Given the description of an element on the screen output the (x, y) to click on. 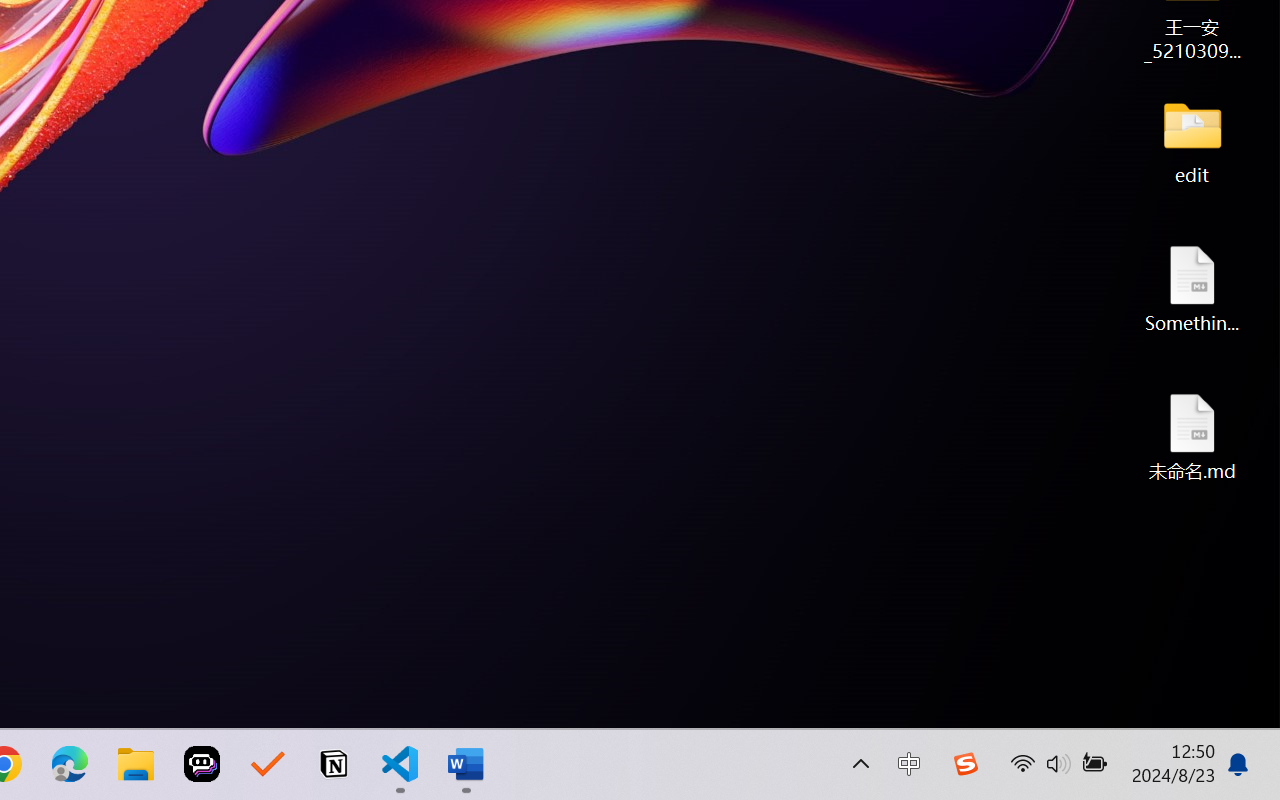
edit (1192, 140)
